Given the description of an element on the screen output the (x, y) to click on. 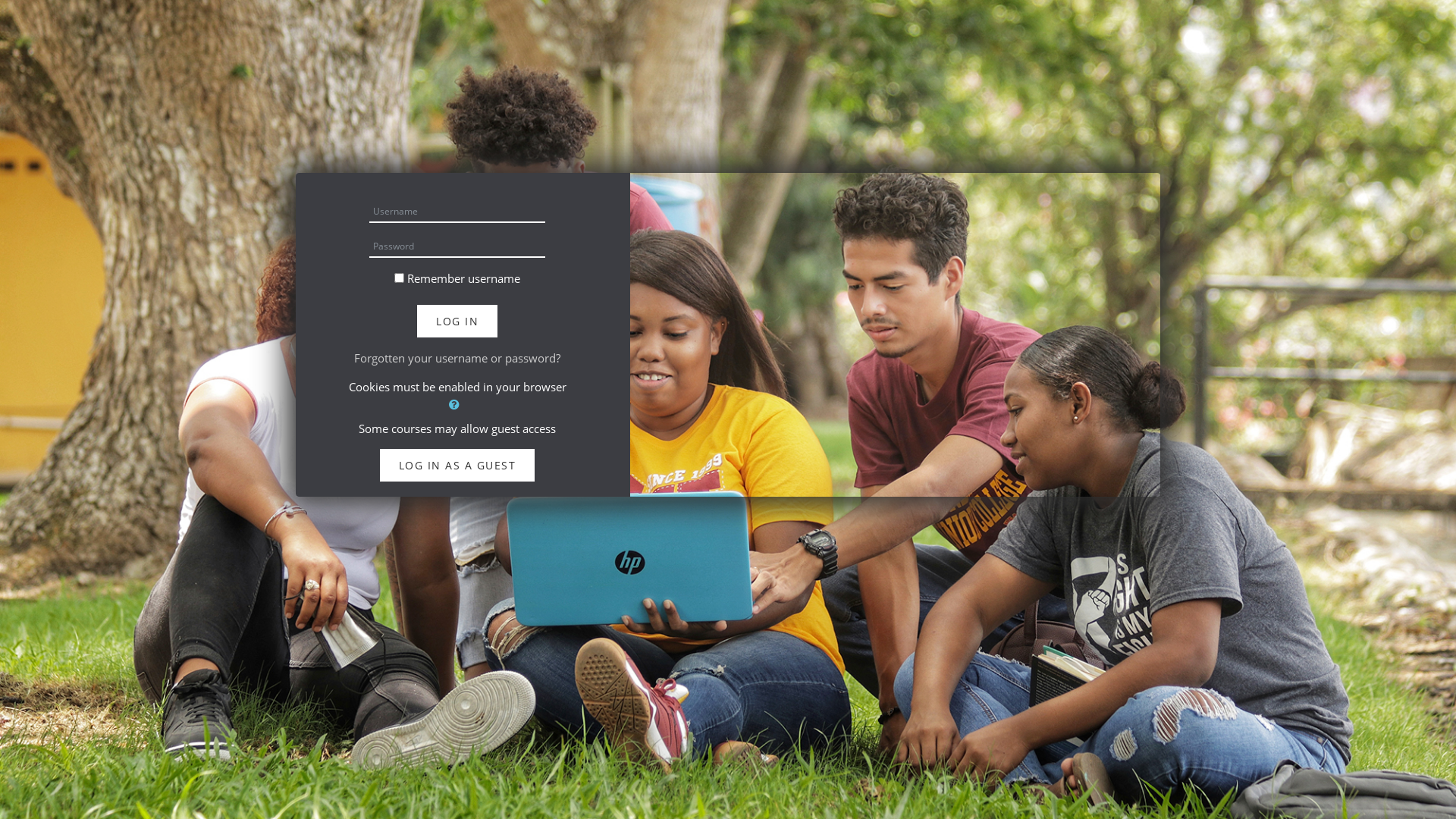
LOG IN AS A GUEST Element type: text (457, 464)
LOG IN Element type: text (457, 320)
Forgotten your username or password? Element type: text (457, 357)
Help with Cookies must be enabled in your browser Element type: hover (454, 404)
